Given the description of an element on the screen output the (x, y) to click on. 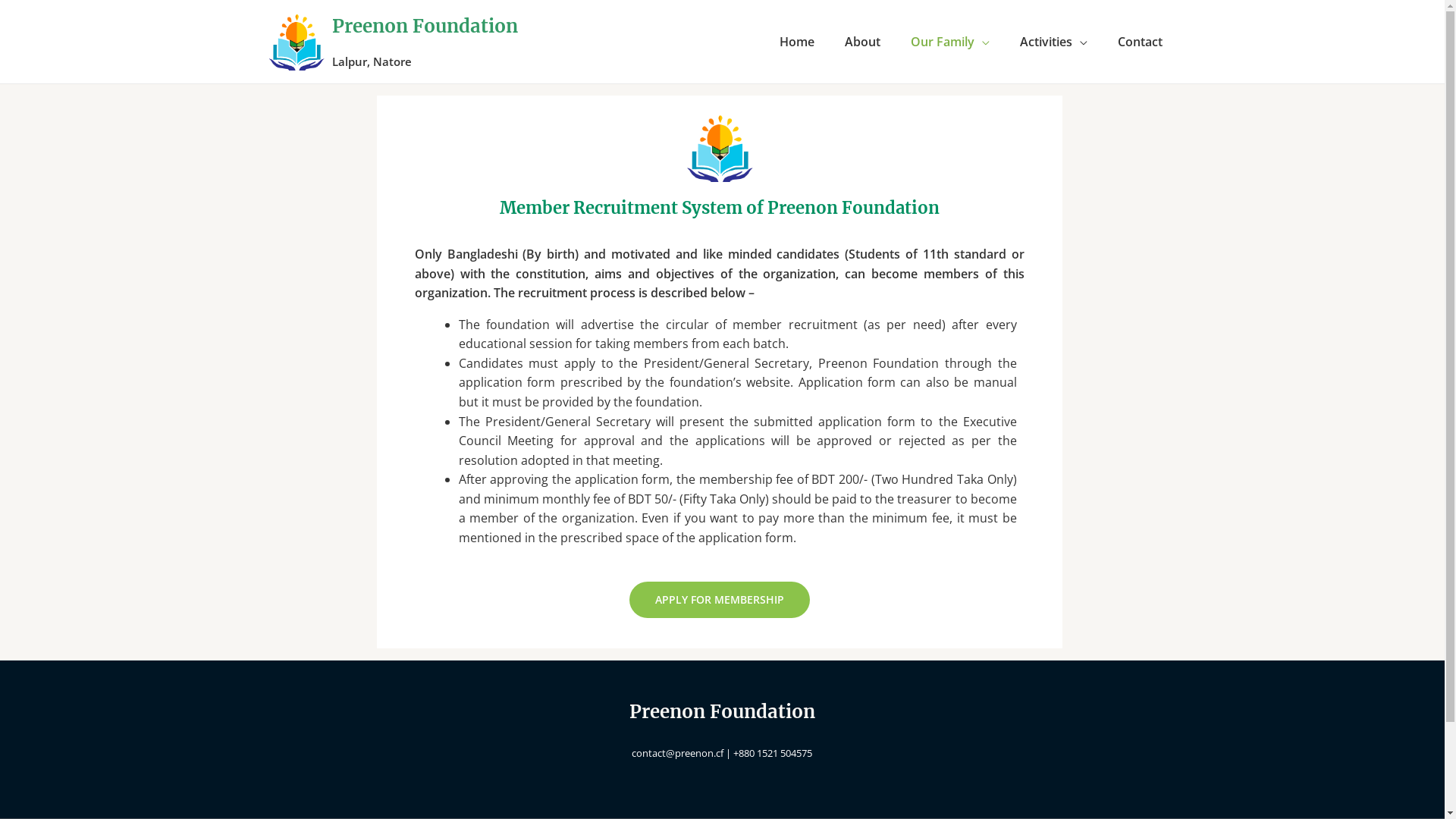
About Element type: text (862, 41)
Home Element type: text (796, 41)
Activities Element type: text (1052, 41)
APPLY FOR MEMBERSHIP Element type: text (719, 599)
Contact Element type: text (1139, 41)
Our Family Element type: text (949, 41)
